Given the description of an element on the screen output the (x, y) to click on. 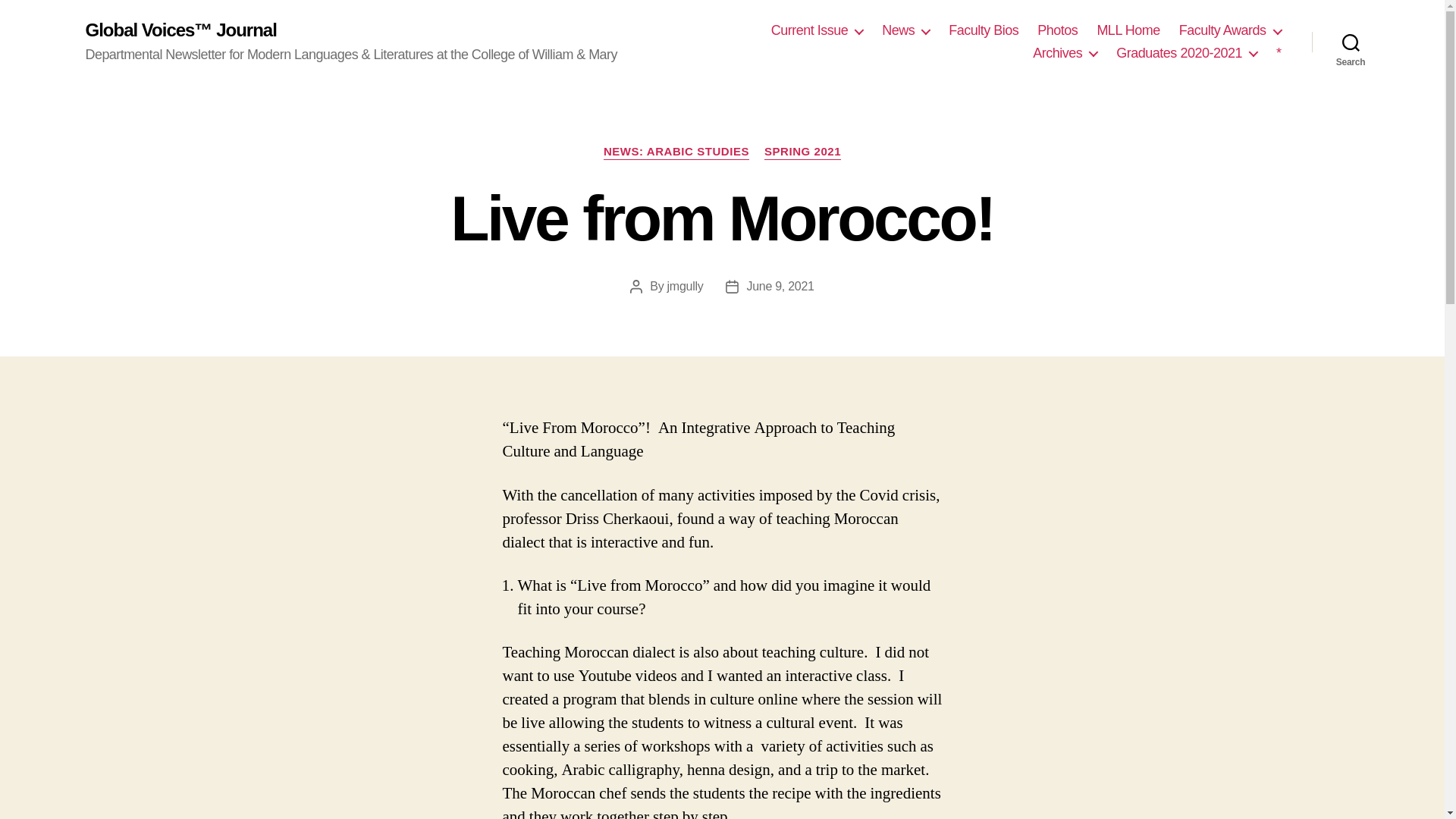
News (906, 30)
MLL Home (1127, 30)
Photos (1056, 30)
Faculty Bios (983, 30)
Faculty Awards (1230, 30)
Archives (1064, 53)
Current Issue (817, 30)
